Given the description of an element on the screen output the (x, y) to click on. 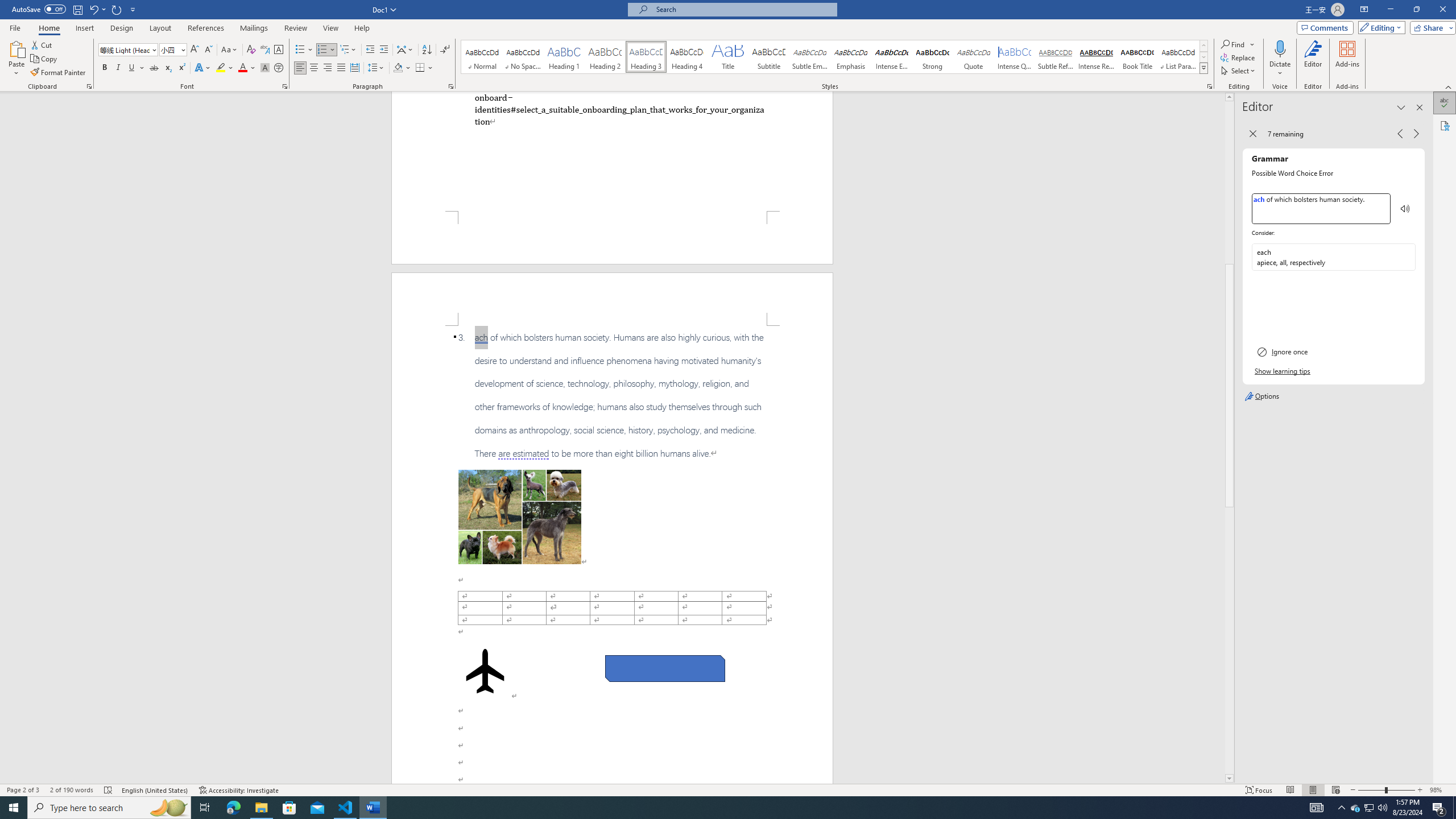
Sort... (426, 49)
Find (1232, 44)
Subtitle (768, 56)
Editor (1312, 58)
Bold (104, 67)
More options for each (1406, 257)
Multilevel List (347, 49)
Mailings (253, 28)
Subtle Emphasis (809, 56)
Class: NetUIScrollBar (1229, 437)
Morphological variation in six dogs (519, 517)
Page 2 content (611, 554)
Page Number Page 2 of 3 (22, 790)
